Given the description of an element on the screen output the (x, y) to click on. 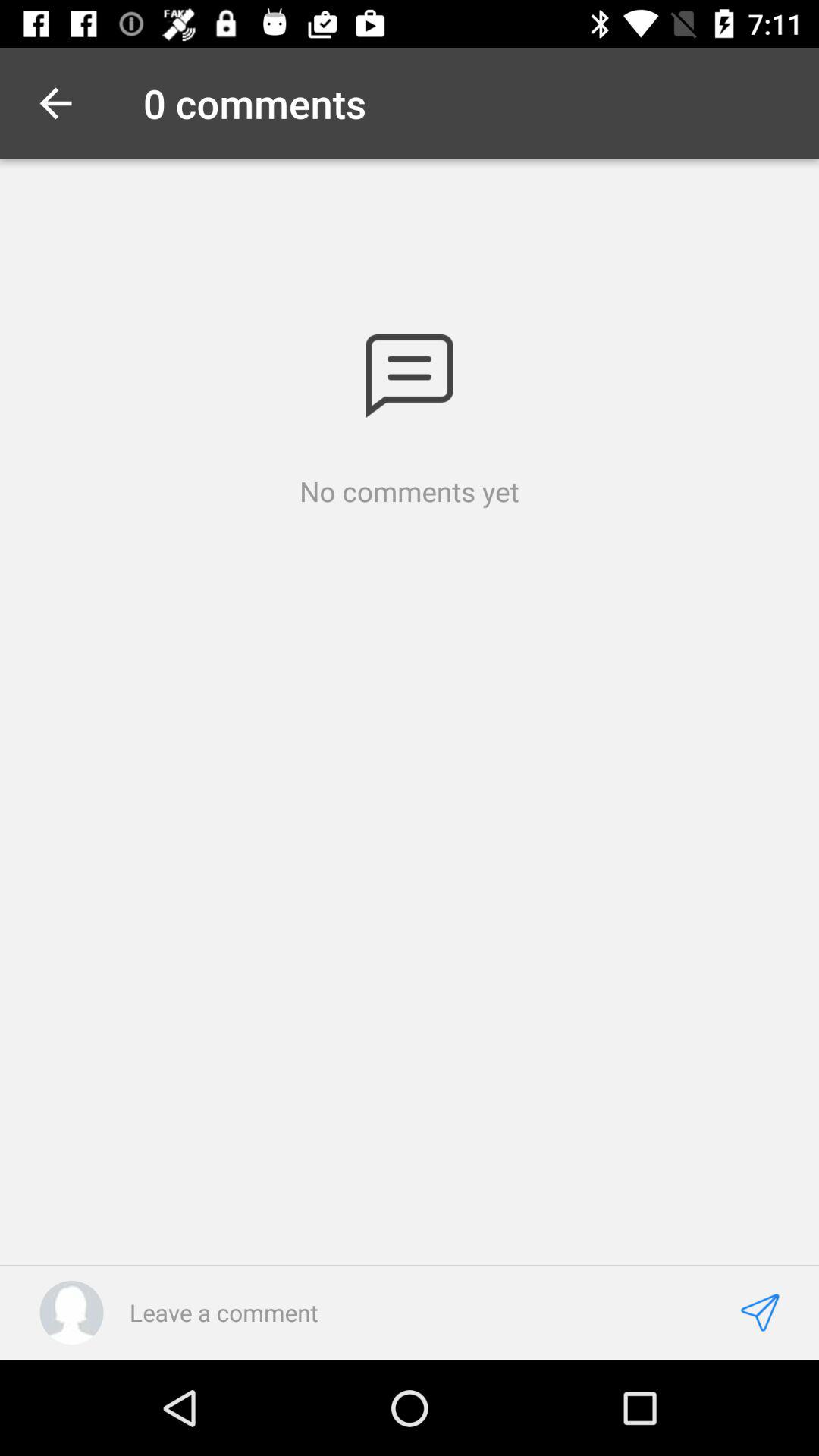
select item to the left of 0 comments (55, 103)
